Given the description of an element on the screen output the (x, y) to click on. 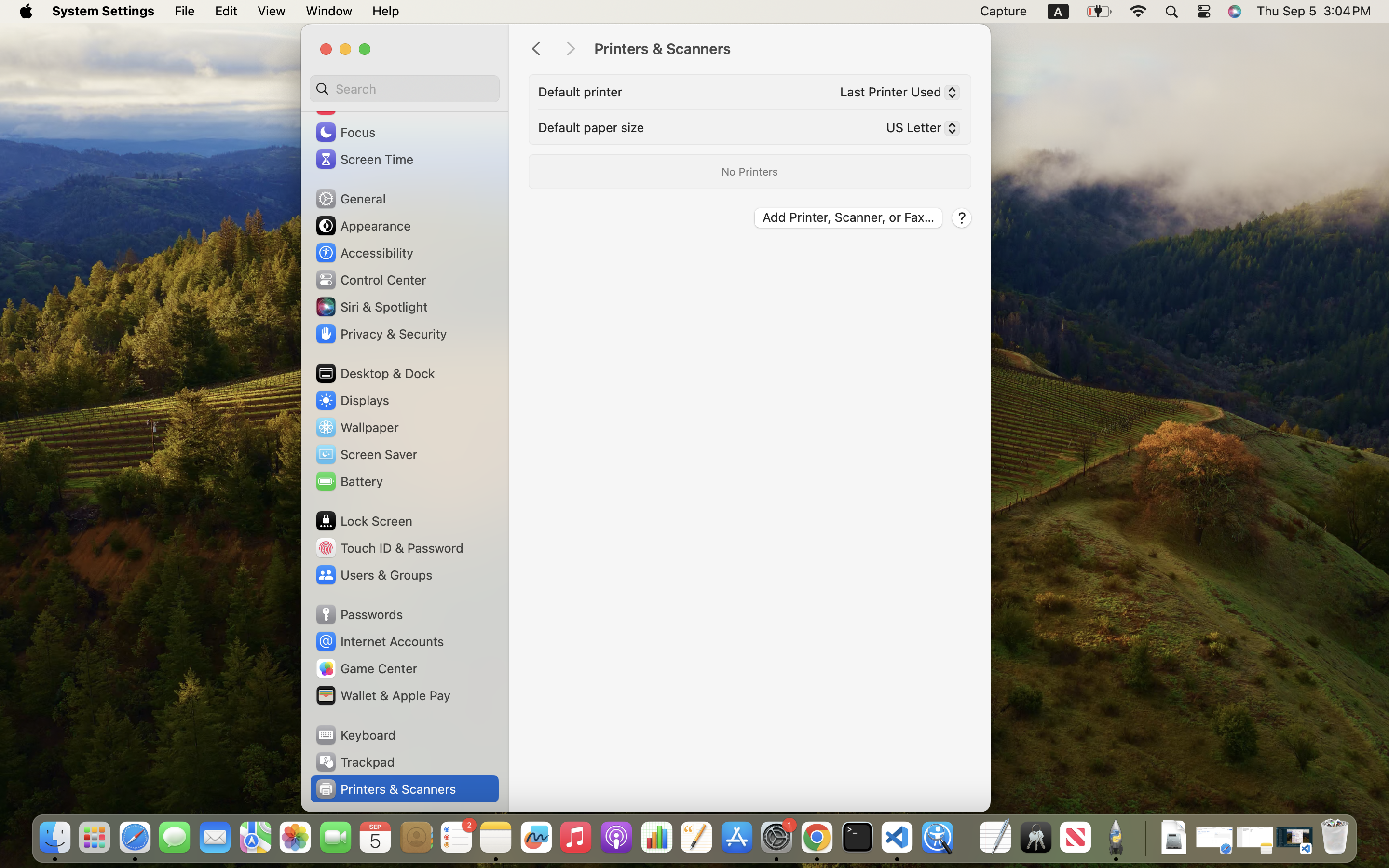
Siri & Spotlight Element type: AXStaticText (370, 306)
Battery Element type: AXStaticText (348, 480)
General Element type: AXStaticText (349, 198)
Default paper size Element type: AXStaticText (591, 127)
Users & Groups Element type: AXStaticText (373, 574)
